Given the description of an element on the screen output the (x, y) to click on. 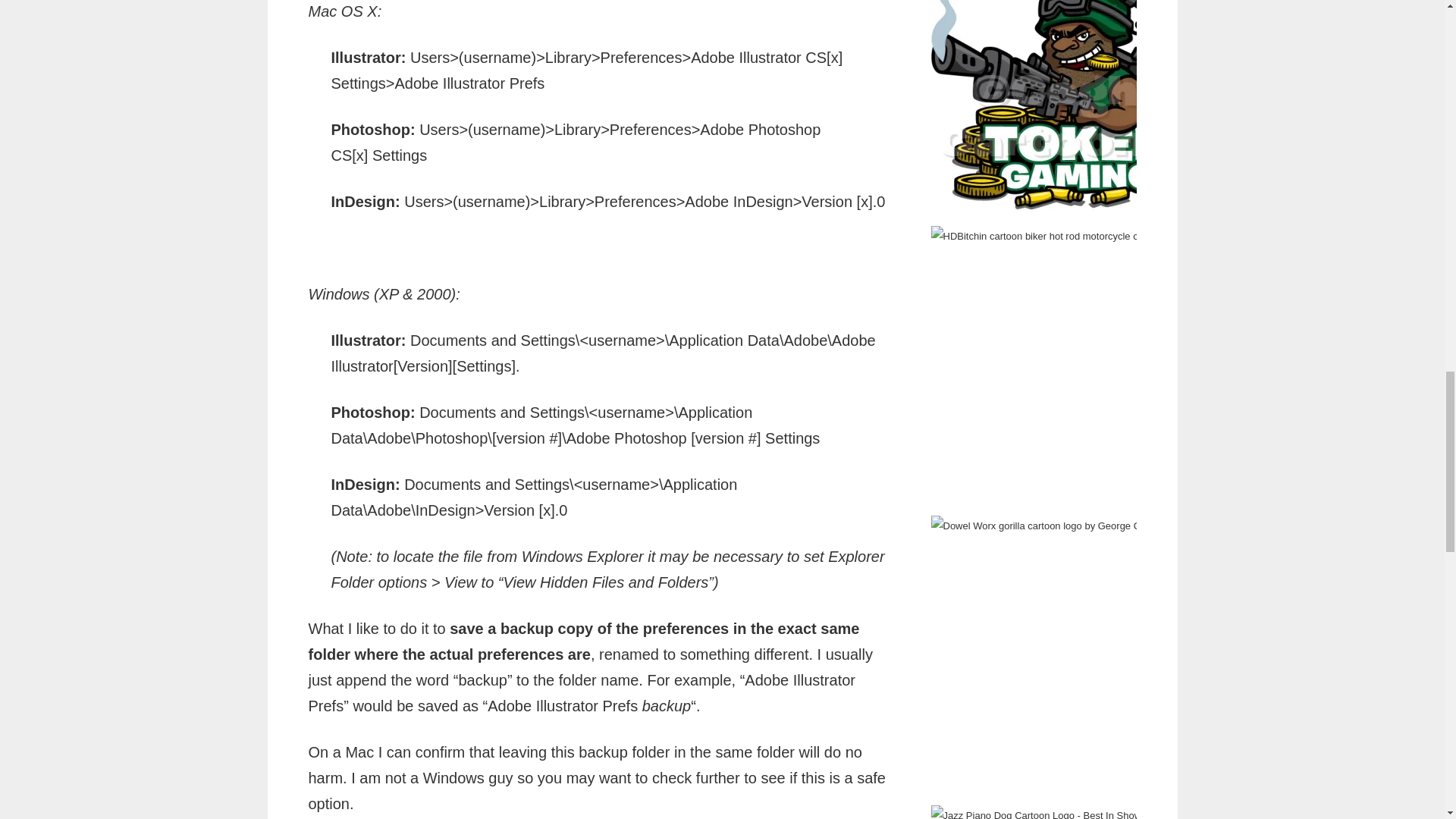
Token-Gaming-cartoon-logo (1074, 111)
